Given the description of an element on the screen output the (x, y) to click on. 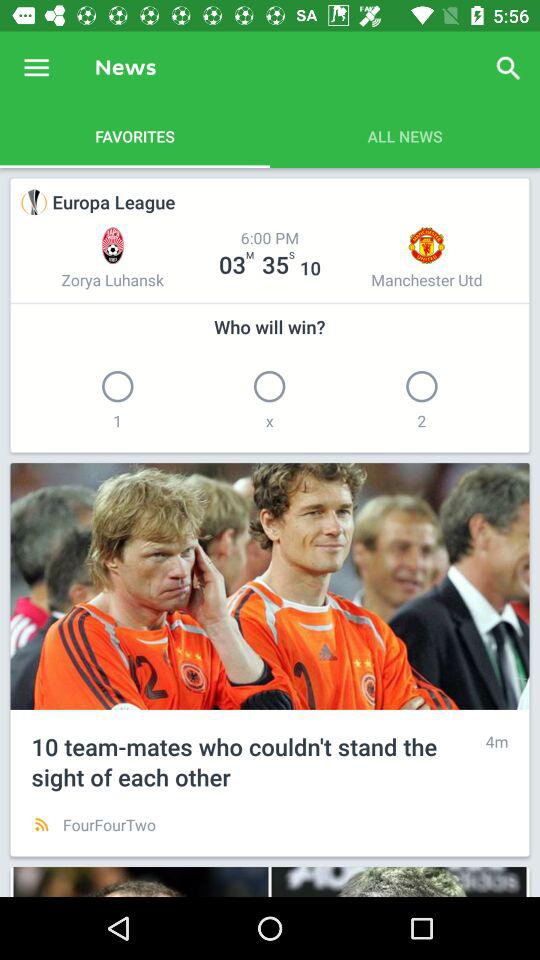
tap the item next to the news (508, 67)
